Given the description of an element on the screen output the (x, y) to click on. 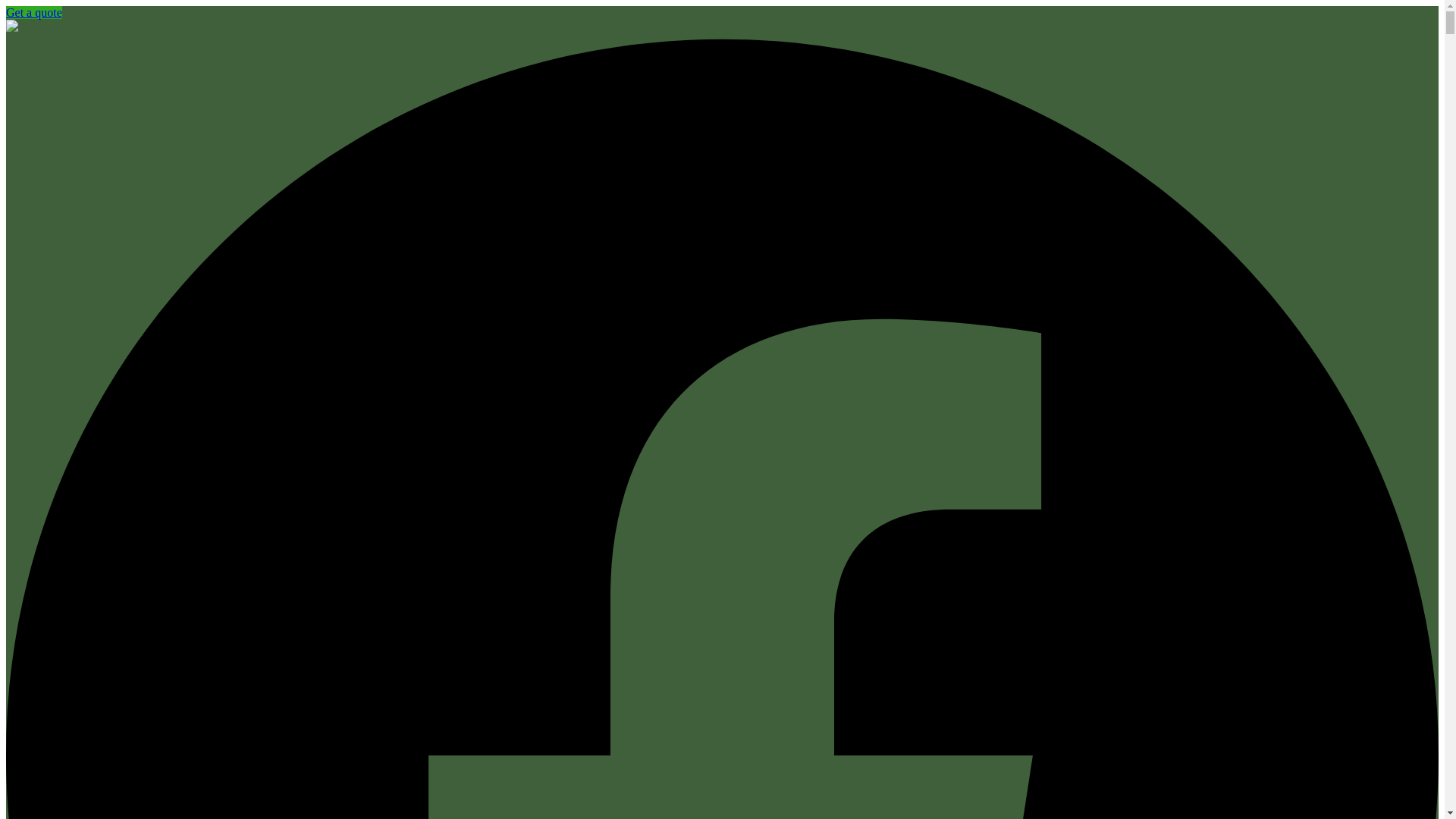
Get a quote (33, 11)
